Given the description of an element on the screen output the (x, y) to click on. 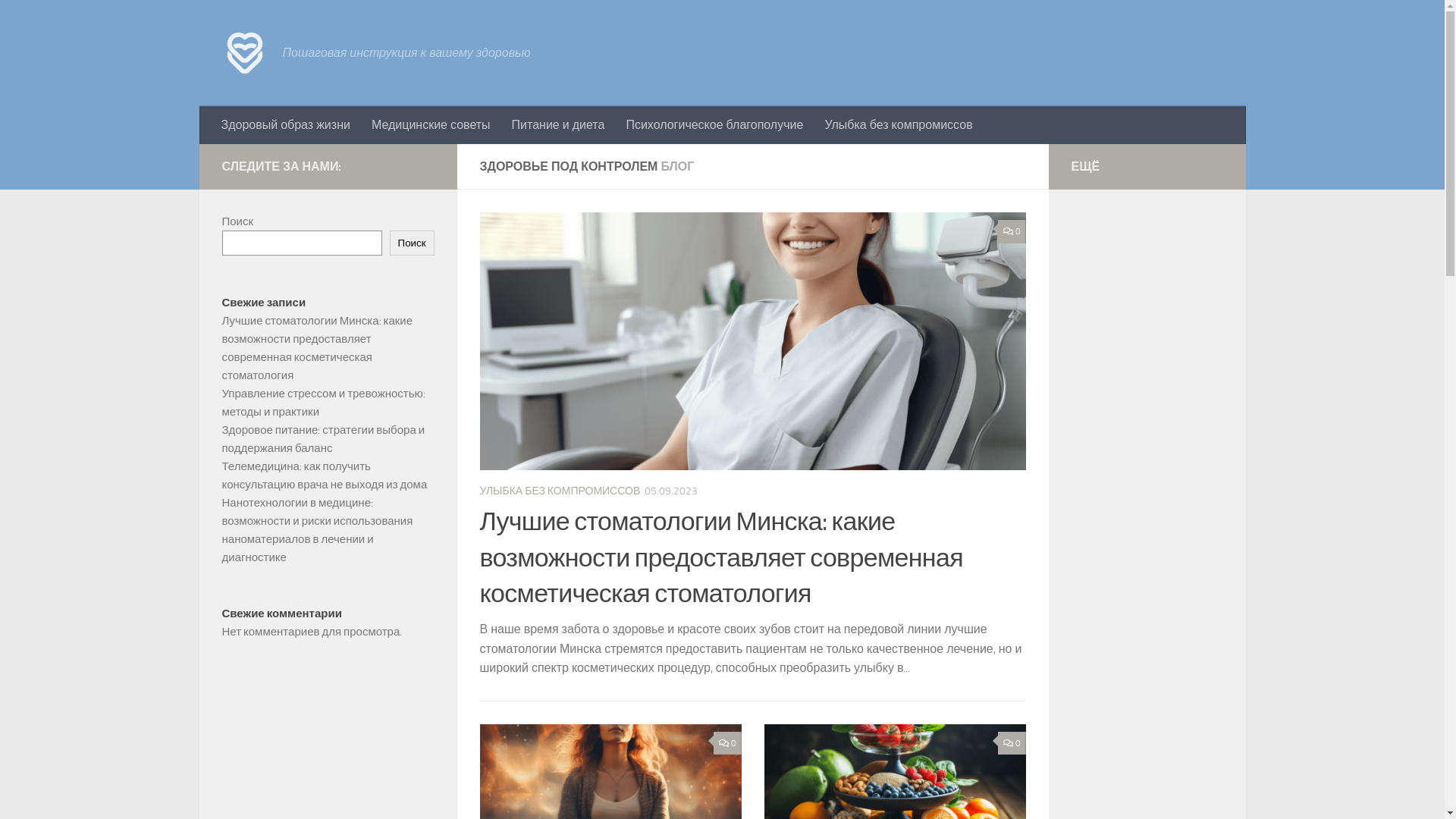
0 Element type: text (726, 743)
0 Element type: text (1011, 743)
0 Element type: text (1011, 231)
